Given the description of an element on the screen output the (x, y) to click on. 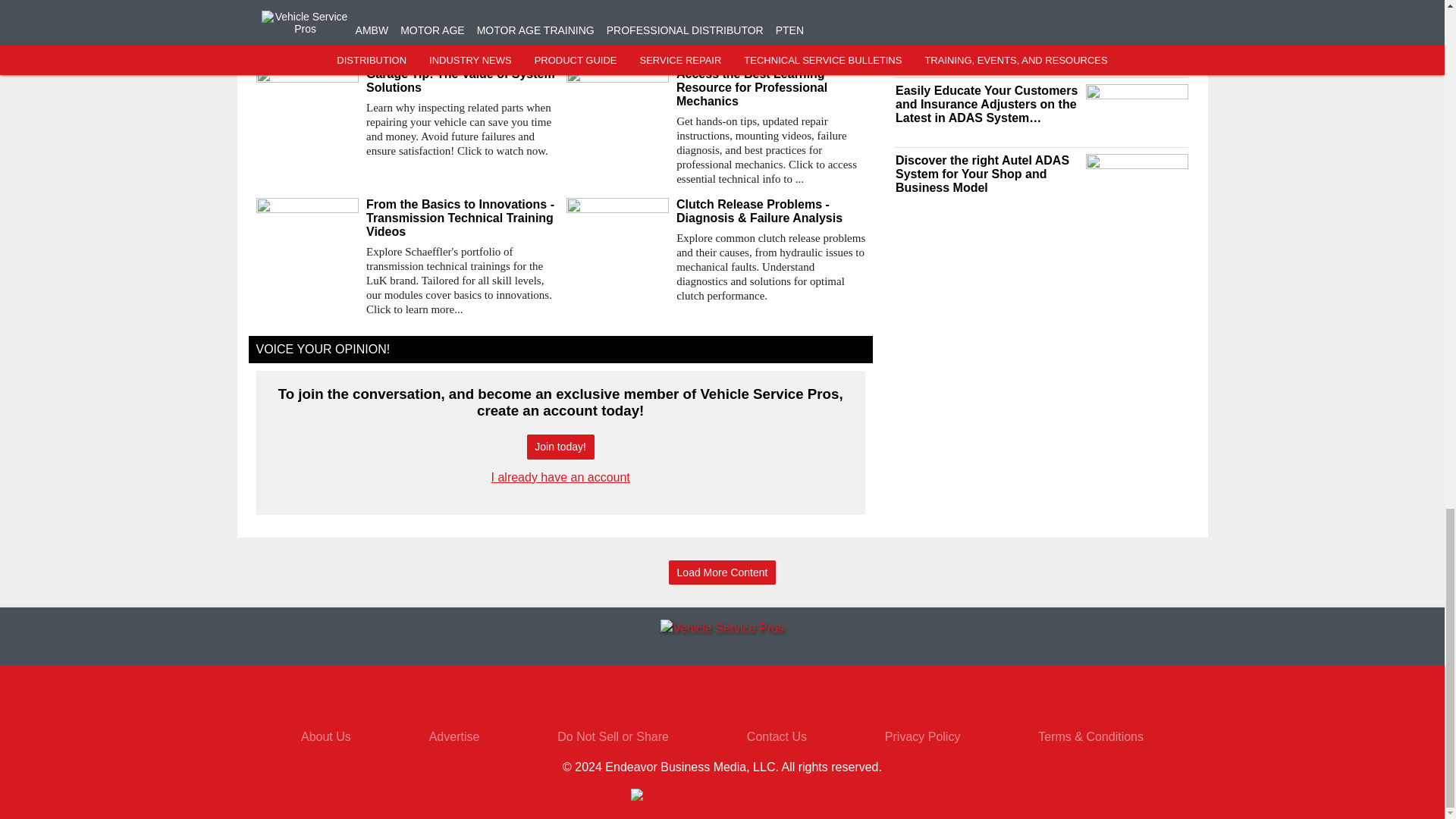
I already have an account (561, 477)
Access the Best Learning Resource for Professional Mechanics (770, 87)
Garage Tip: The Value of System Solutions (459, 81)
Join today! (560, 446)
